Given the description of an element on the screen output the (x, y) to click on. 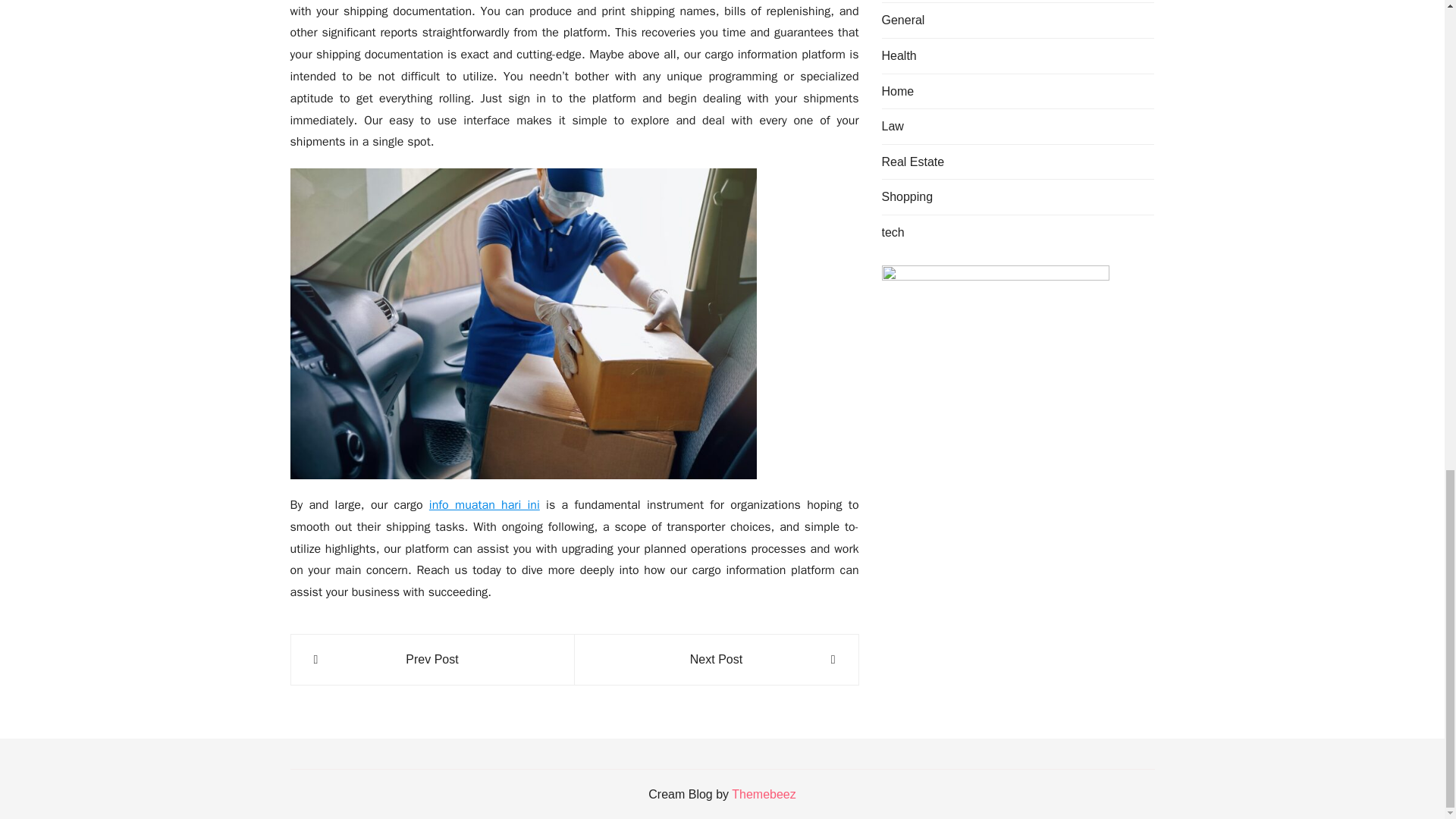
Next Post (715, 659)
info muatan hari ini (484, 504)
Prev Post (432, 659)
